Given the description of an element on the screen output the (x, y) to click on. 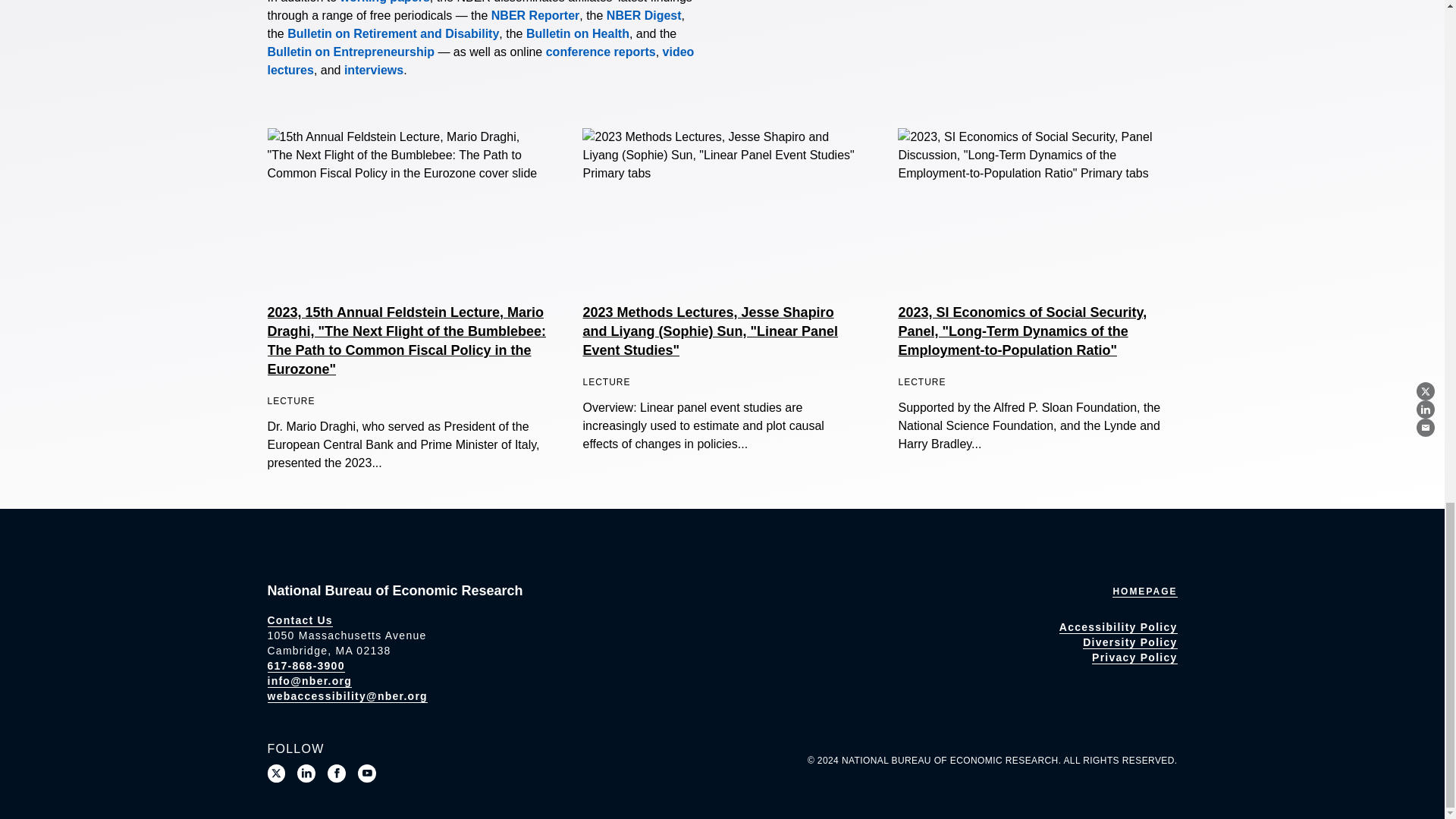
Conferences (601, 51)
Working Papers (384, 2)
Lectures (480, 60)
Research Spotlights (373, 69)
